Given the description of an element on the screen output the (x, y) to click on. 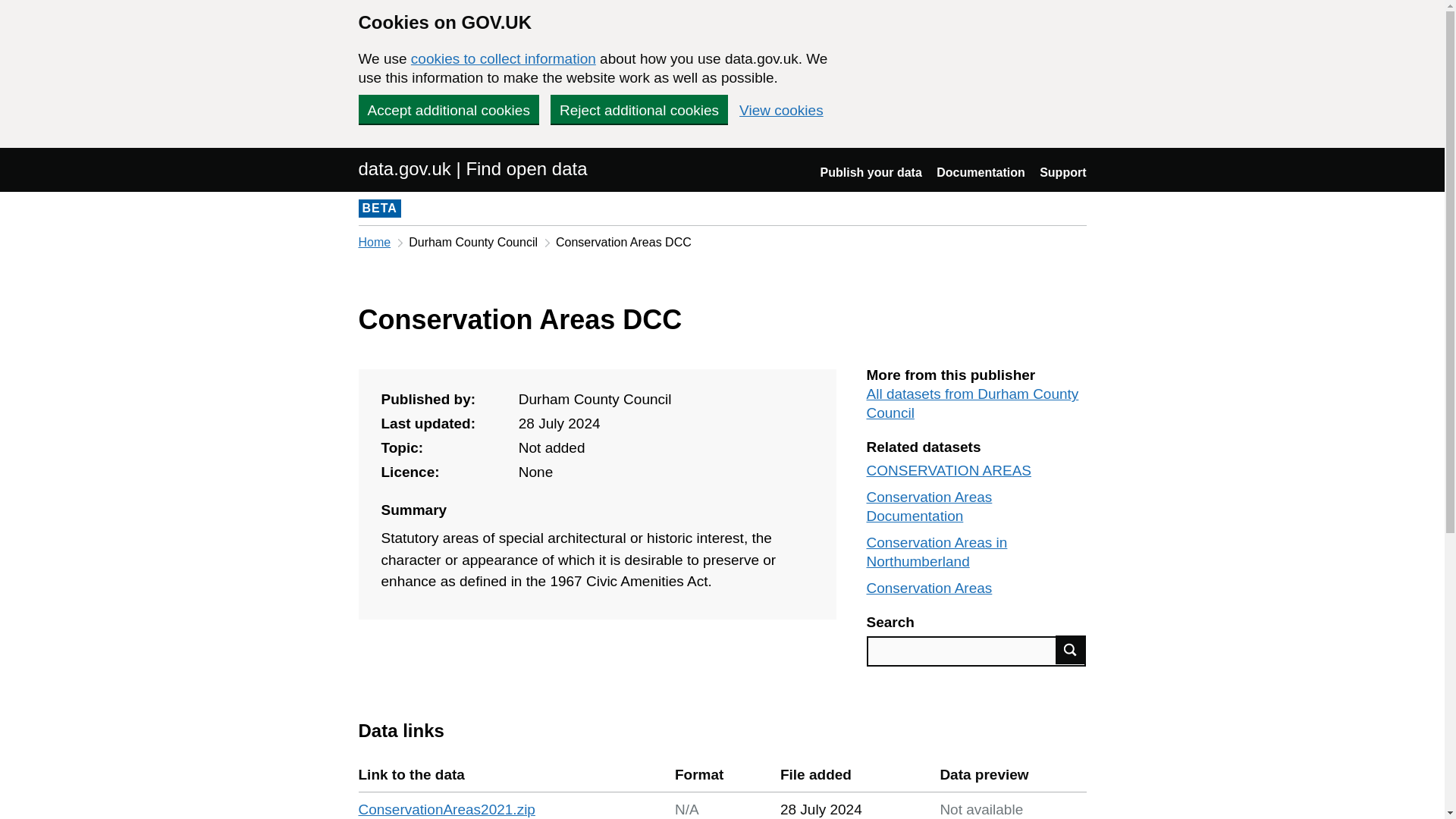
View cookies (781, 110)
Home (374, 241)
All datasets from Durham County Council (972, 402)
Support (1062, 172)
Reject additional cookies (639, 109)
Conservation Areas in Northumberland (936, 551)
Conservation Areas Documentation (928, 506)
Publish your data (871, 172)
cookies to collect information (502, 58)
Find data (1070, 649)
Skip to main content (11, 155)
Documentation (980, 172)
CONSERVATION AREAS (948, 470)
Conservation Areas (928, 587)
Accept additional cookies (448, 109)
